Given the description of an element on the screen output the (x, y) to click on. 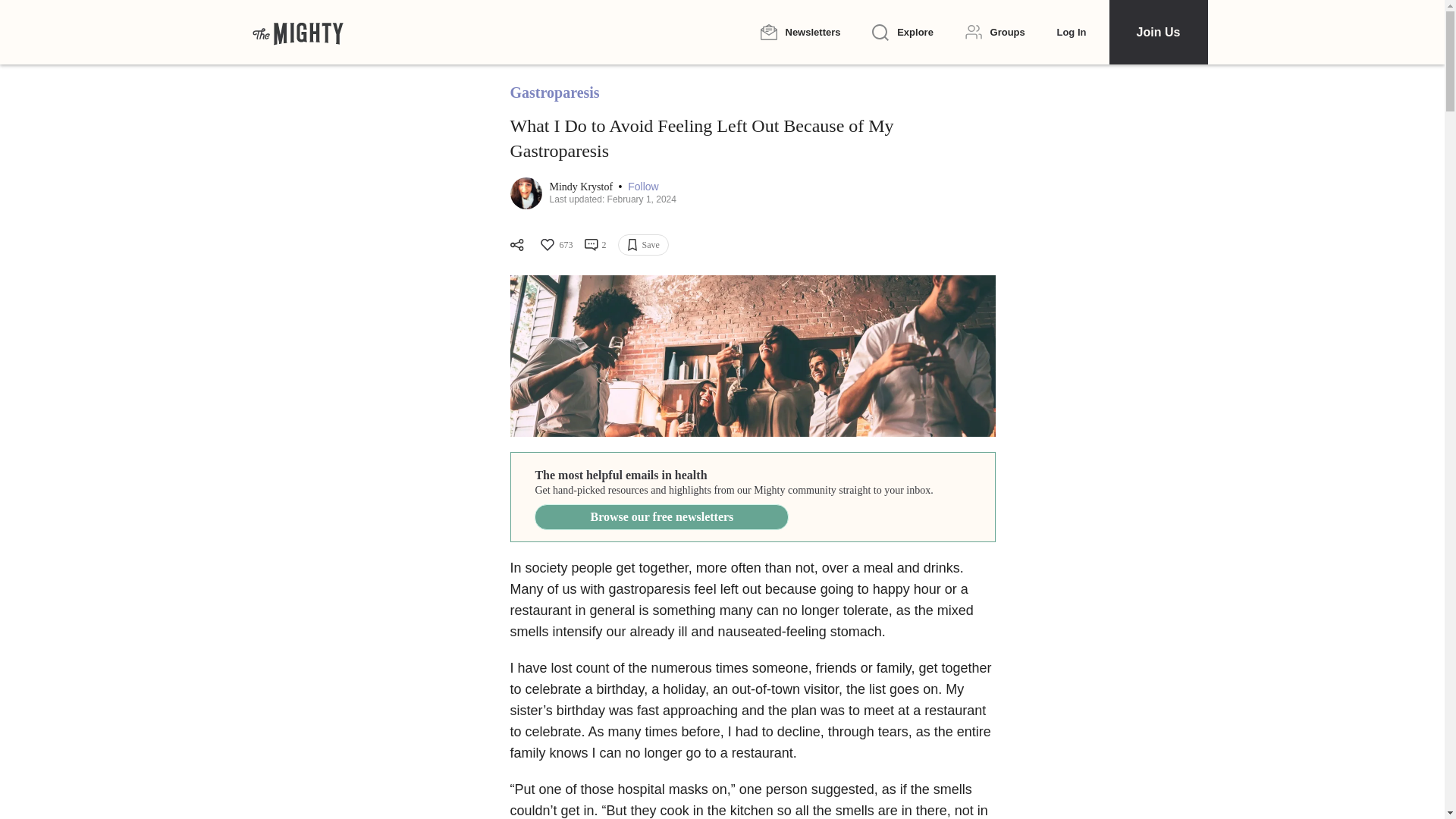
Groups (995, 32)
Save (642, 244)
Explore (902, 32)
2 (594, 244)
Gastroparesis (553, 92)
Browse our free newsletters (661, 516)
Newsletters (800, 31)
Follow (642, 186)
Mindy Krystof (581, 186)
Join Us (1157, 32)
